Given the description of an element on the screen output the (x, y) to click on. 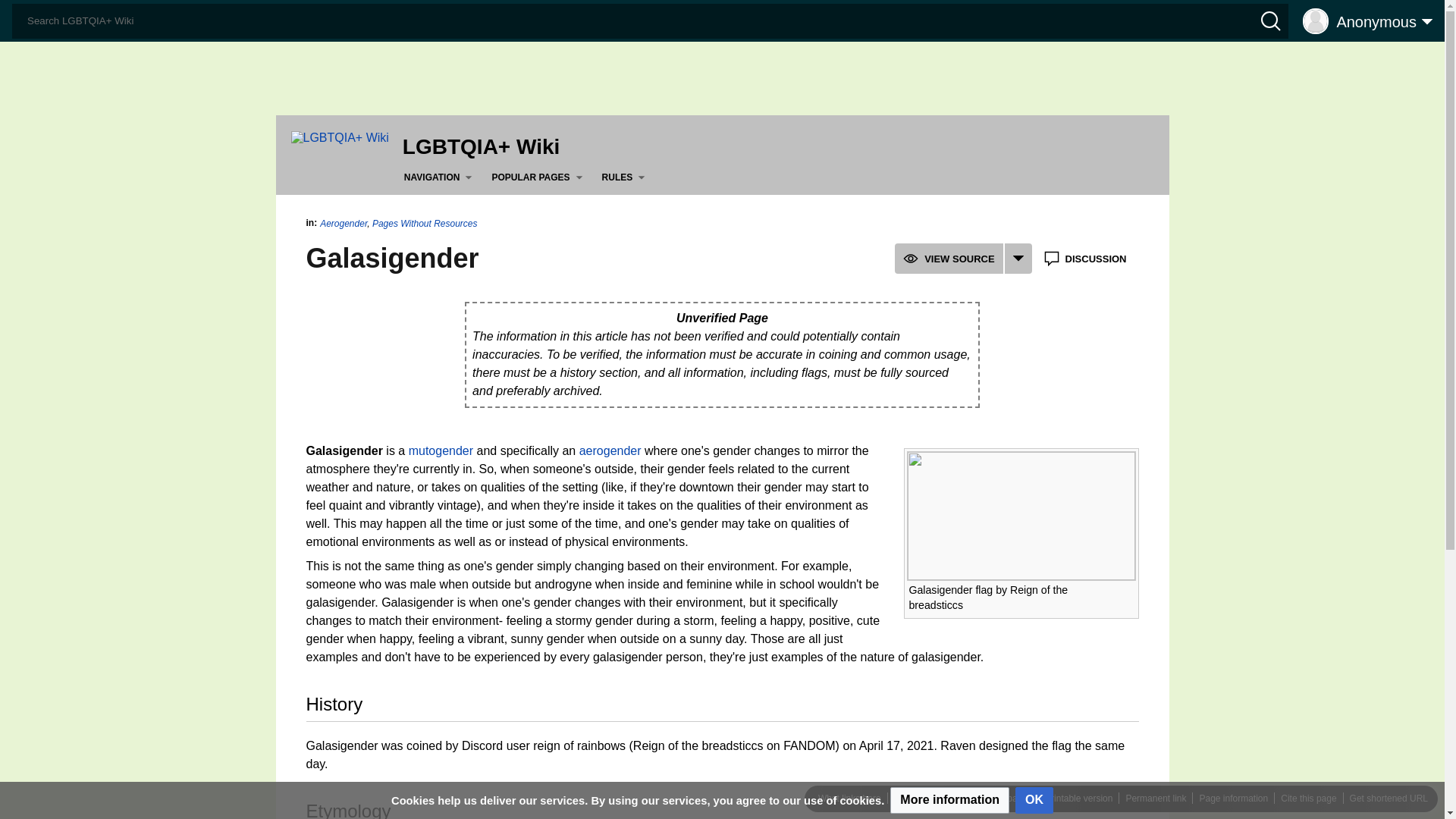
POPULAR PAGES (540, 177)
Aerogender (610, 450)
Go (16, 13)
NAVIGATION (441, 177)
Mutogender (441, 450)
Visit the main page (339, 136)
RULES (626, 177)
